Given the description of an element on the screen output the (x, y) to click on. 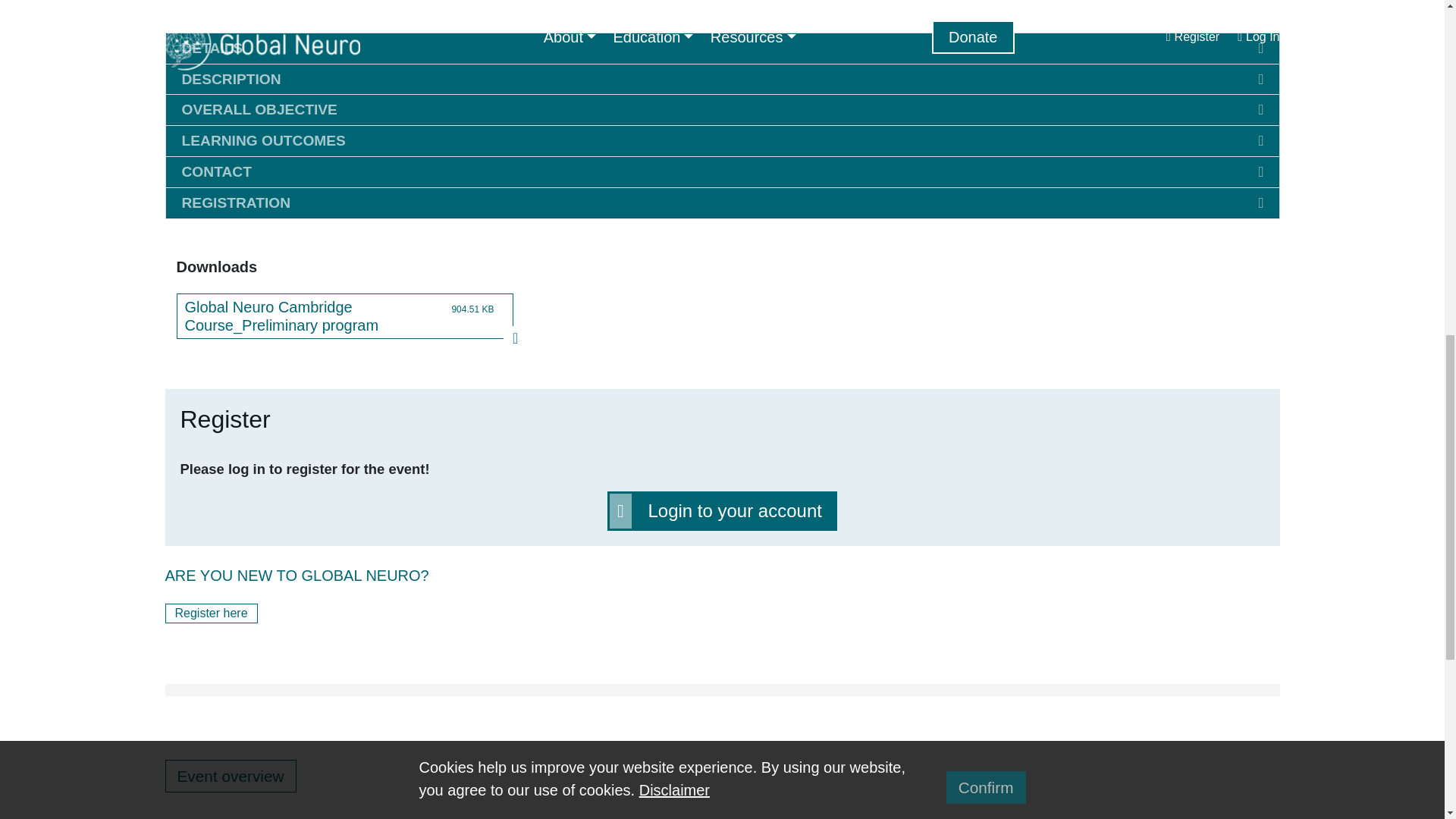
DETAILS (721, 48)
